Given the description of an element on the screen output the (x, y) to click on. 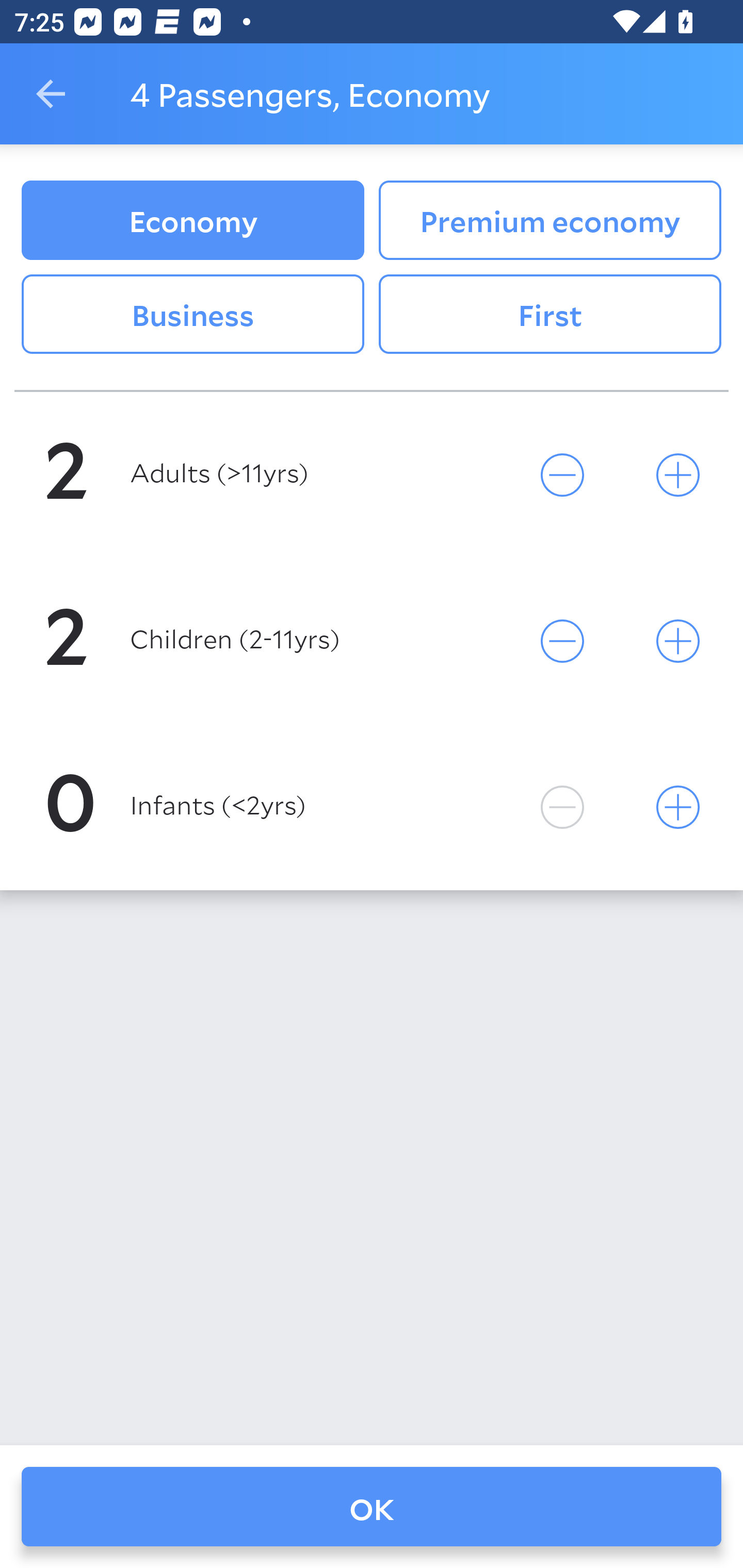
Navigate up (50, 93)
Economy (192, 220)
Premium economy (549, 220)
Business (192, 314)
First (549, 314)
OK (371, 1506)
